Given the description of an element on the screen output the (x, y) to click on. 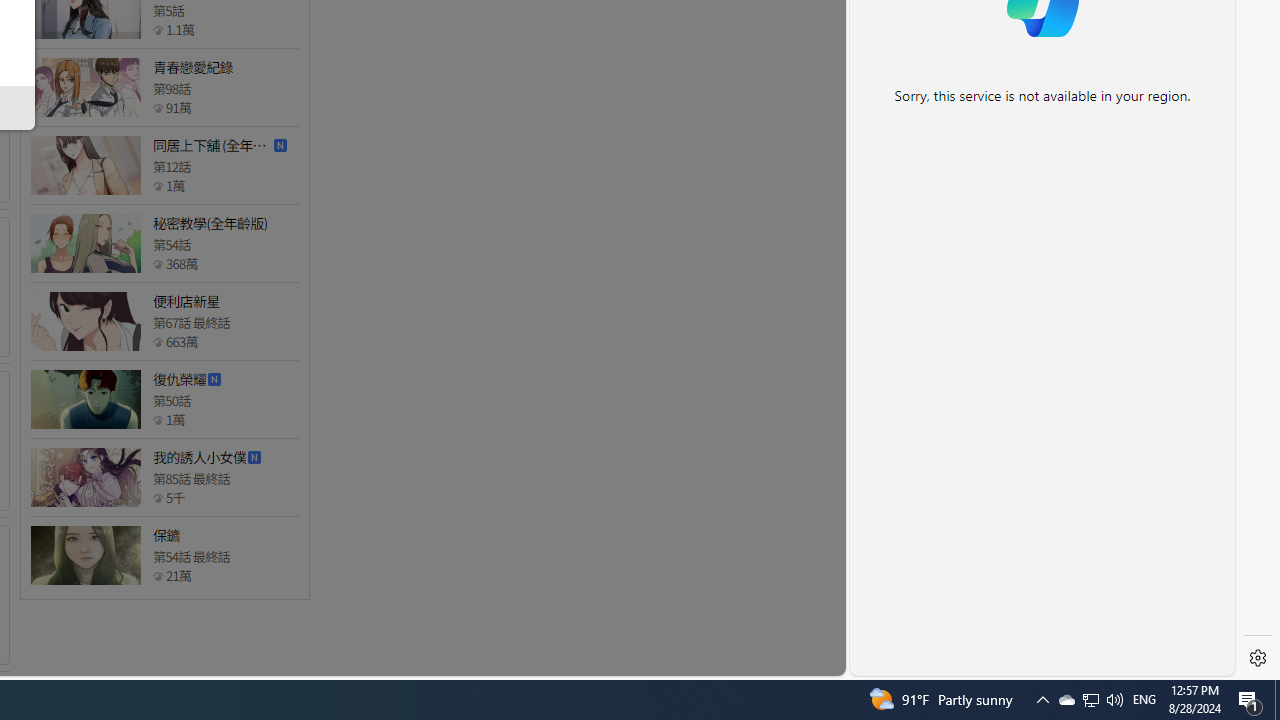
Class: epicon_starpoint (158, 575)
